Given the description of an element on the screen output the (x, y) to click on. 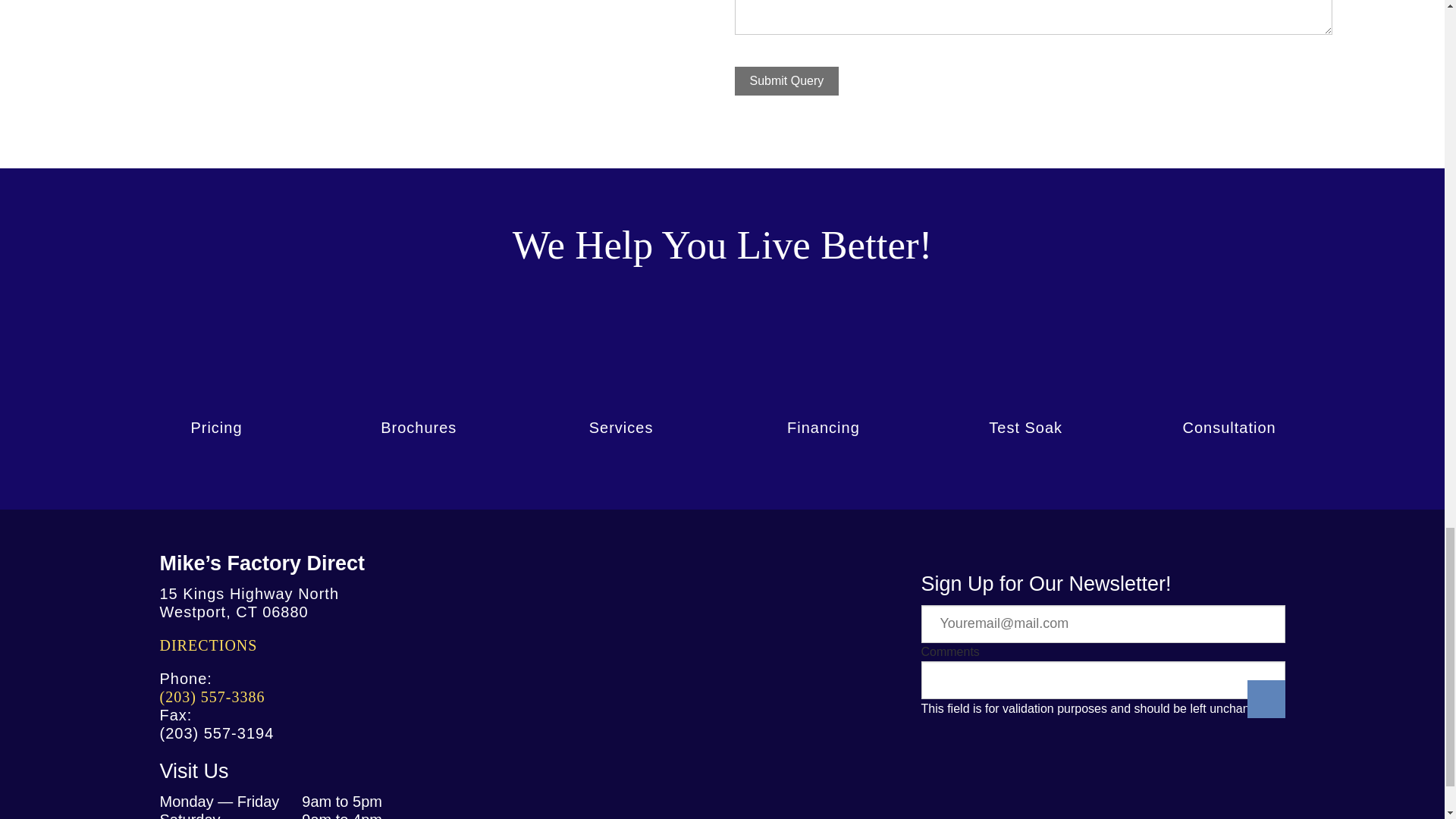
Submit (1265, 699)
Submit Query (785, 80)
